Given the description of an element on the screen output the (x, y) to click on. 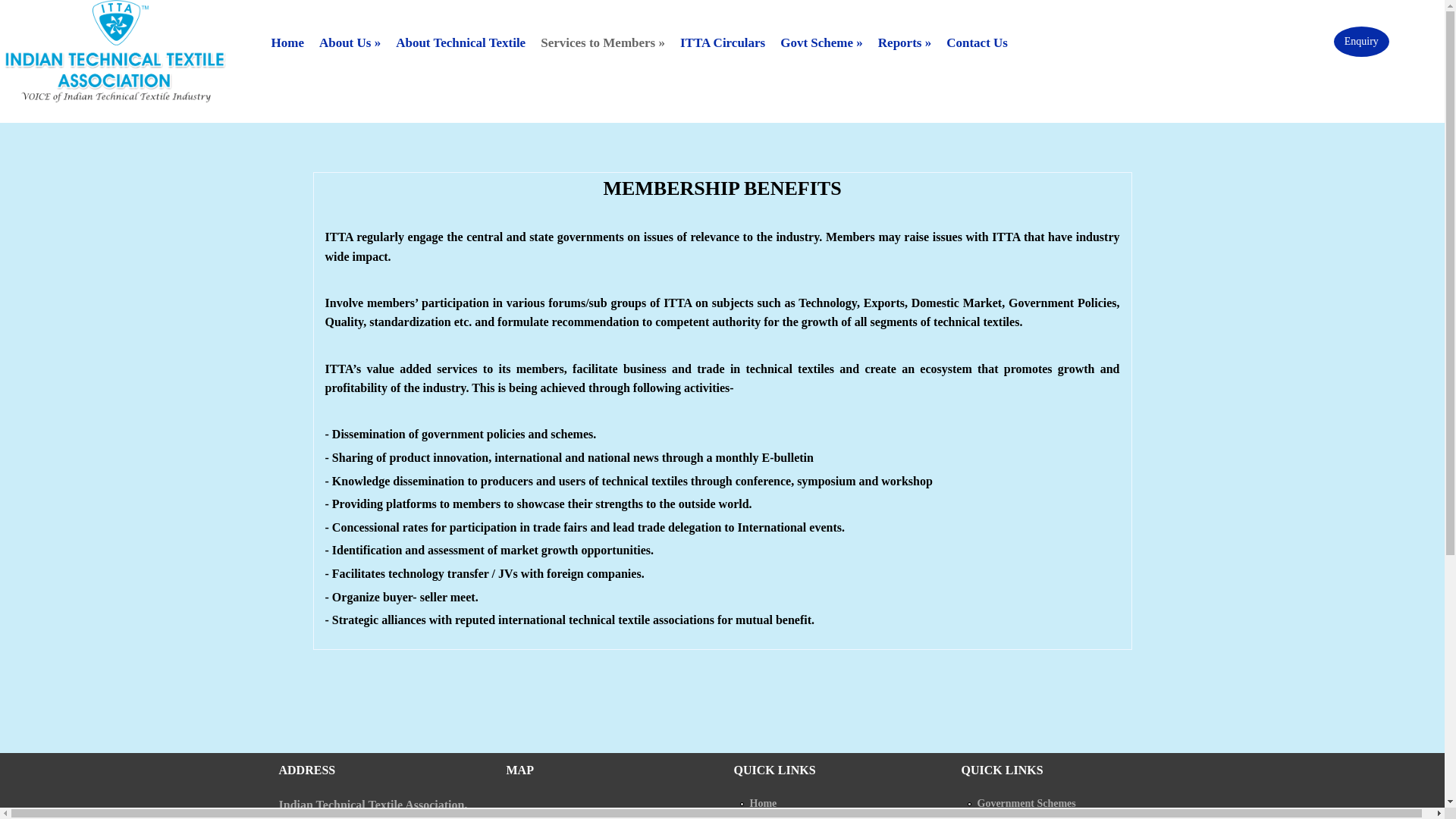
Links (989, 816)
Contact Us (976, 42)
ITTA Circulars (722, 42)
About Technical Textile (460, 42)
Home (762, 803)
Home (287, 42)
Government Schemes (1025, 803)
Enquiry (1361, 41)
About (763, 816)
Home (112, 97)
